Given the description of an element on the screen output the (x, y) to click on. 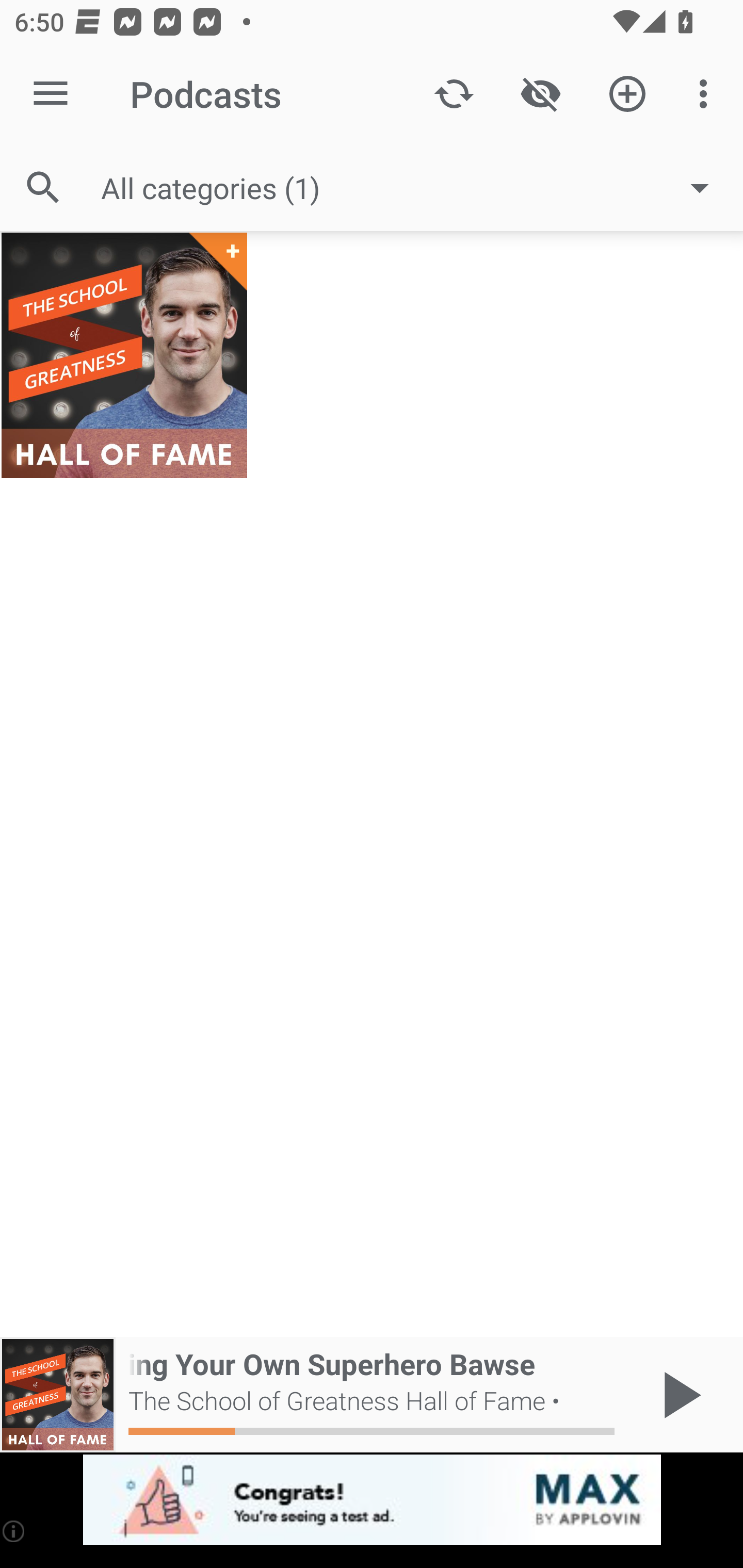
Open navigation sidebar (50, 93)
Update (453, 93)
Show / Hide played content (540, 93)
Add new Podcast (626, 93)
More options (706, 93)
Search (43, 187)
All categories (1) (414, 188)
The School of Greatness Hall of Fame + (124, 355)
Play / Pause (677, 1394)
app-monetization (371, 1500)
(i) (14, 1531)
